Given the description of an element on the screen output the (x, y) to click on. 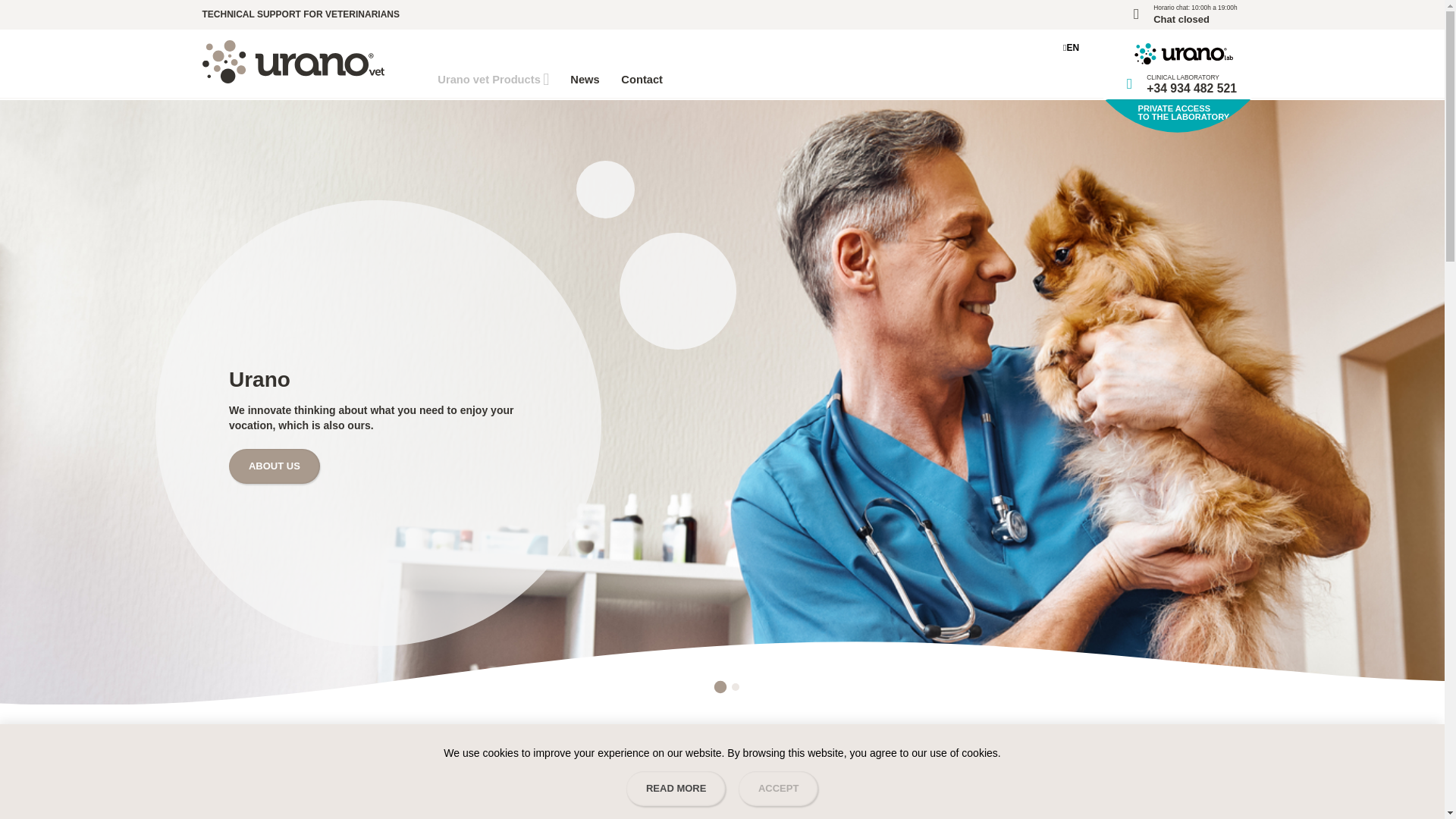
Contact (641, 79)
News (584, 79)
ABOUT US (274, 466)
Urano vet Products (1186, 14)
EN (493, 79)
